Given the description of an element on the screen output the (x, y) to click on. 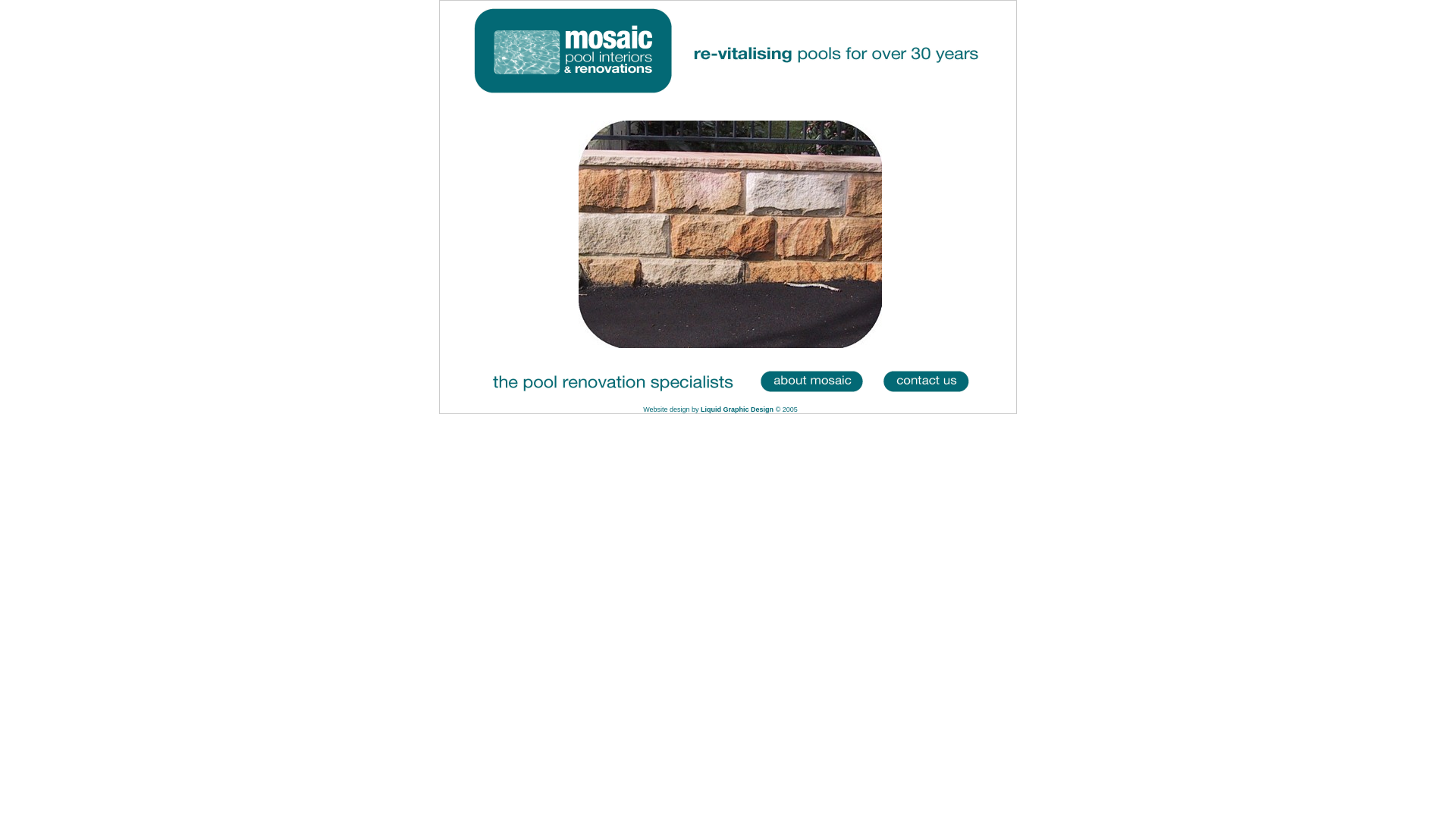
Contact Us Element type: hover (927, 381)
About Mosaic Element type: hover (807, 381)
Liquid Graphic Design Element type: text (736, 409)
The NSW Pool Renovation Speciaists Element type: hover (609, 381)
Mosiac Pool Interiors NSW Pool renovation specialists Element type: hover (727, 86)
